Given the description of an element on the screen output the (x, y) to click on. 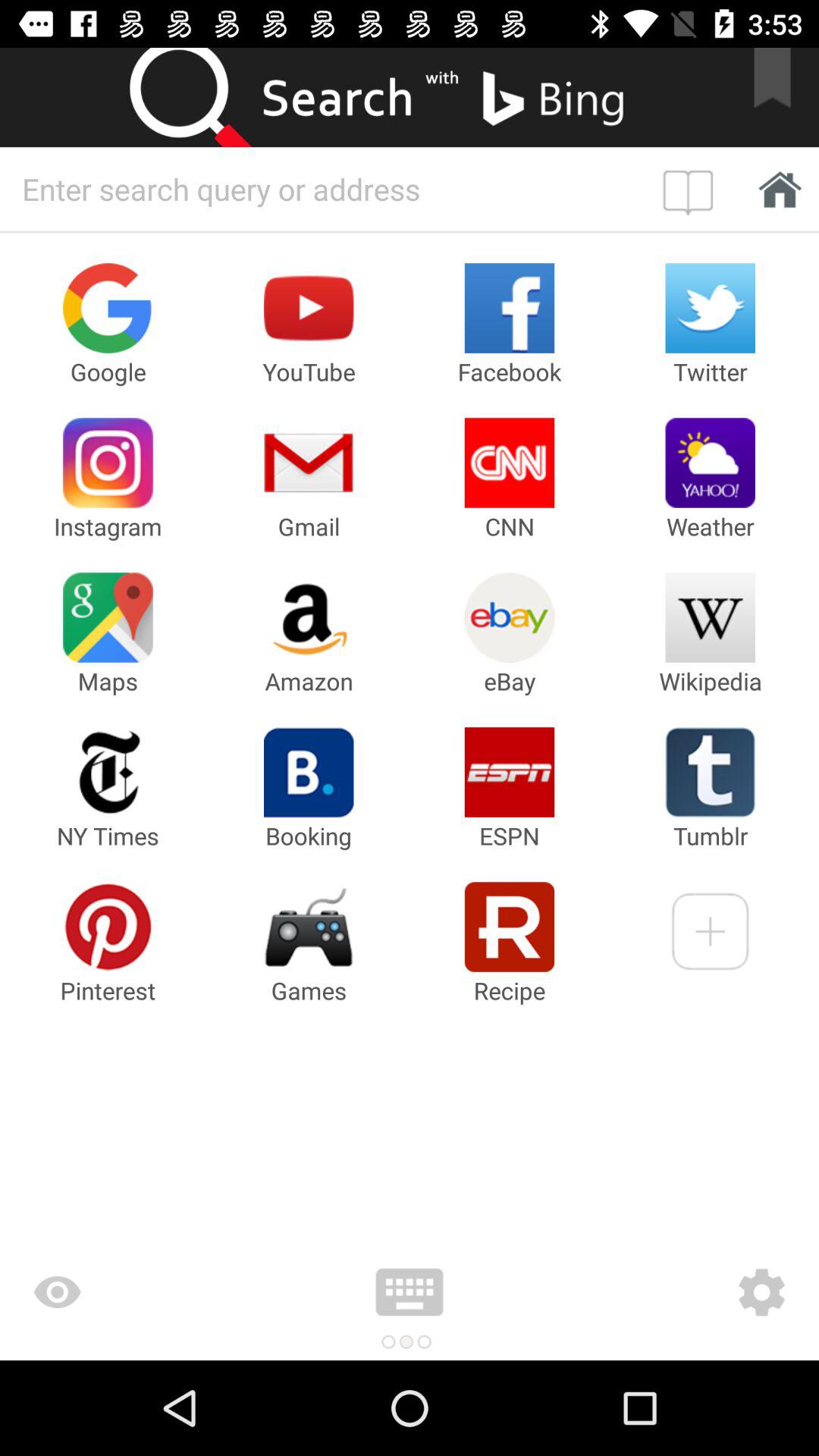
activate on screen keyboard (409, 1292)
